Given the description of an element on the screen output the (x, y) to click on. 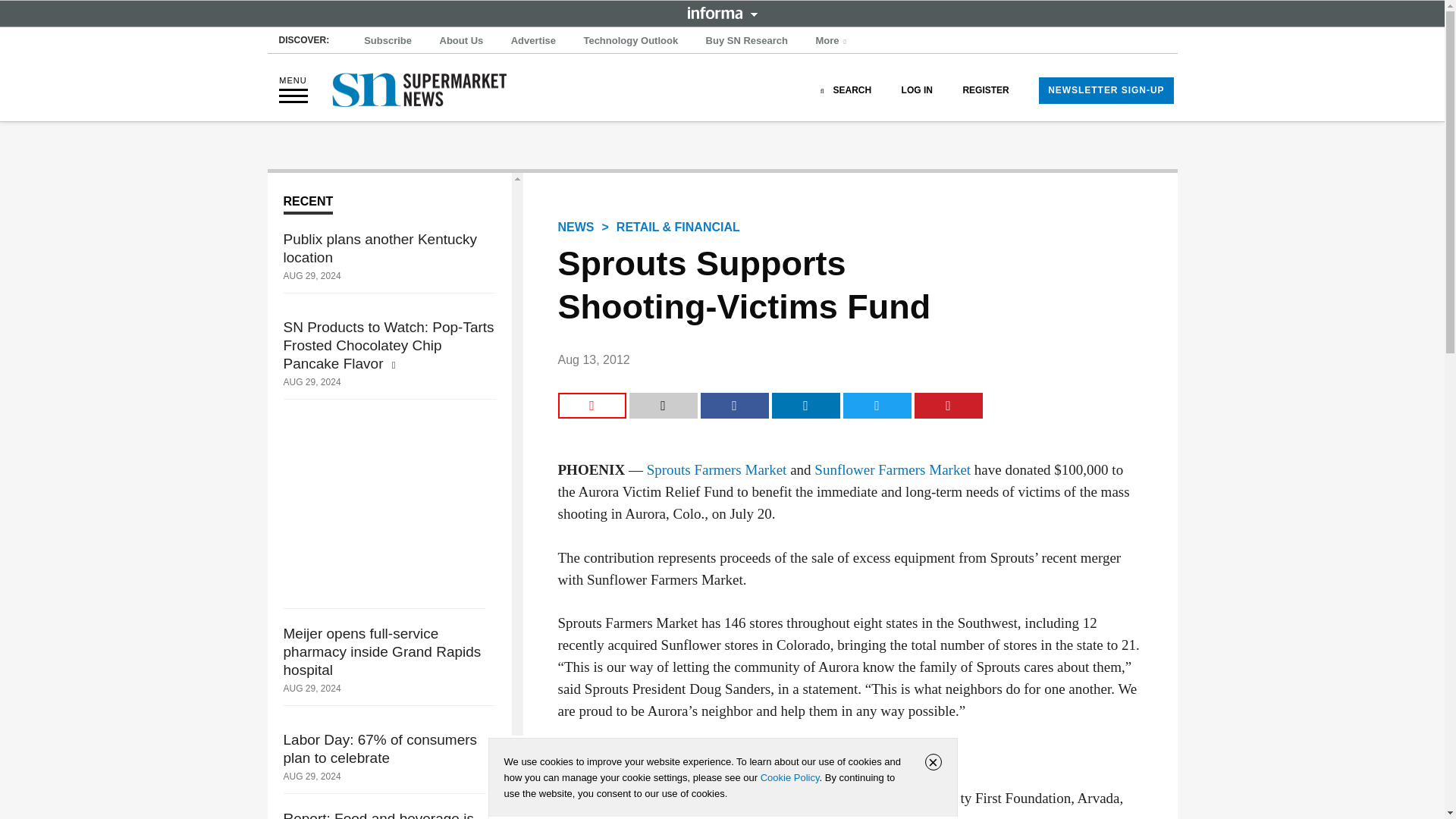
Advertise (533, 41)
More (832, 41)
Buy SN Research (746, 41)
Cookie Policy (789, 777)
INFORMA (722, 12)
Subscribe (387, 41)
About Us (461, 41)
Technology Outlook (630, 41)
